Given the description of an element on the screen output the (x, y) to click on. 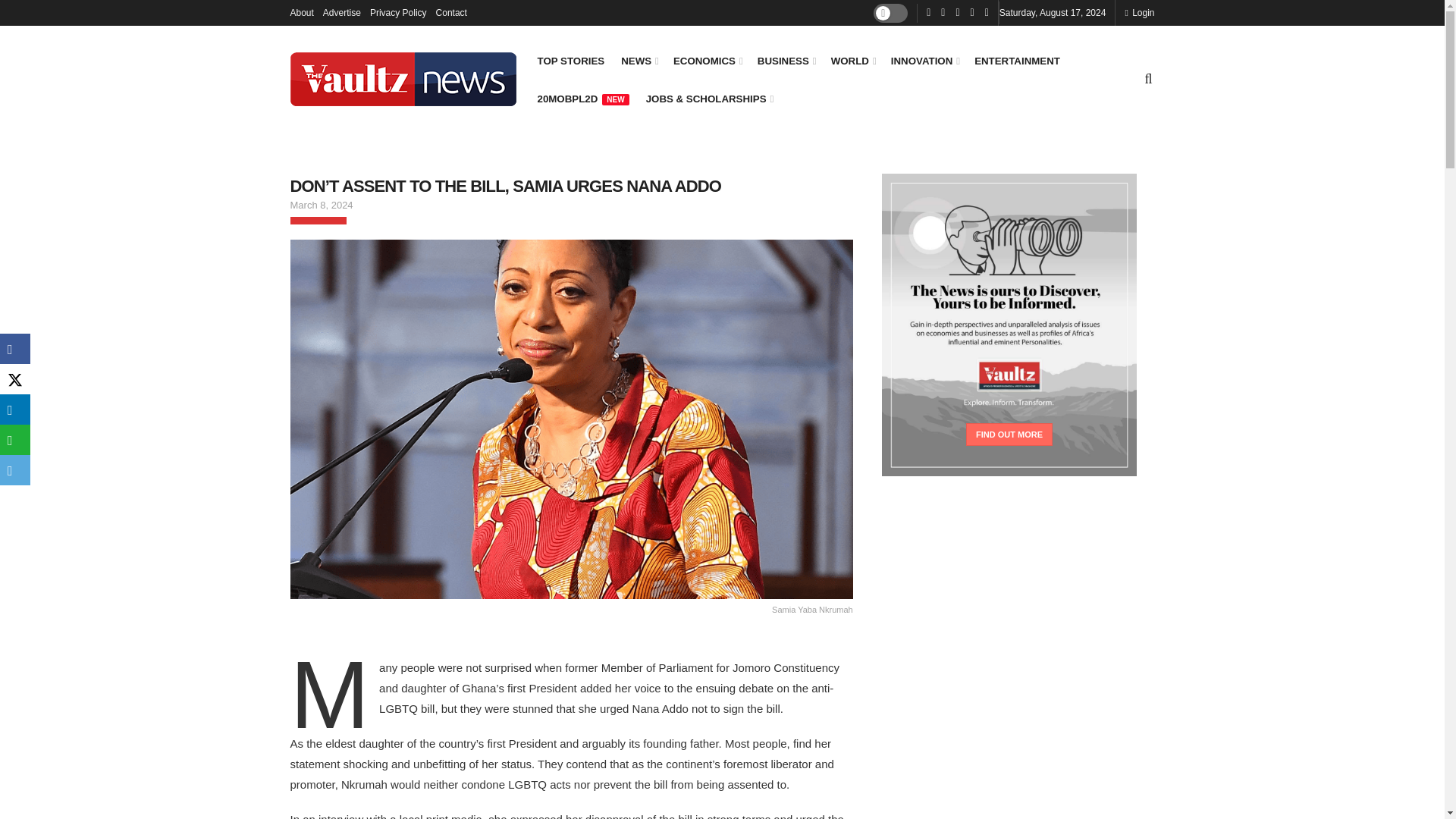
Advertise (342, 12)
Privacy Policy (397, 12)
NEWS (638, 60)
Login (1139, 12)
INNOVATION (924, 60)
Contact (451, 12)
ECONOMICS (706, 60)
WORLD (853, 60)
FIND OUT MORE (1009, 434)
About (301, 12)
